Given the description of an element on the screen output the (x, y) to click on. 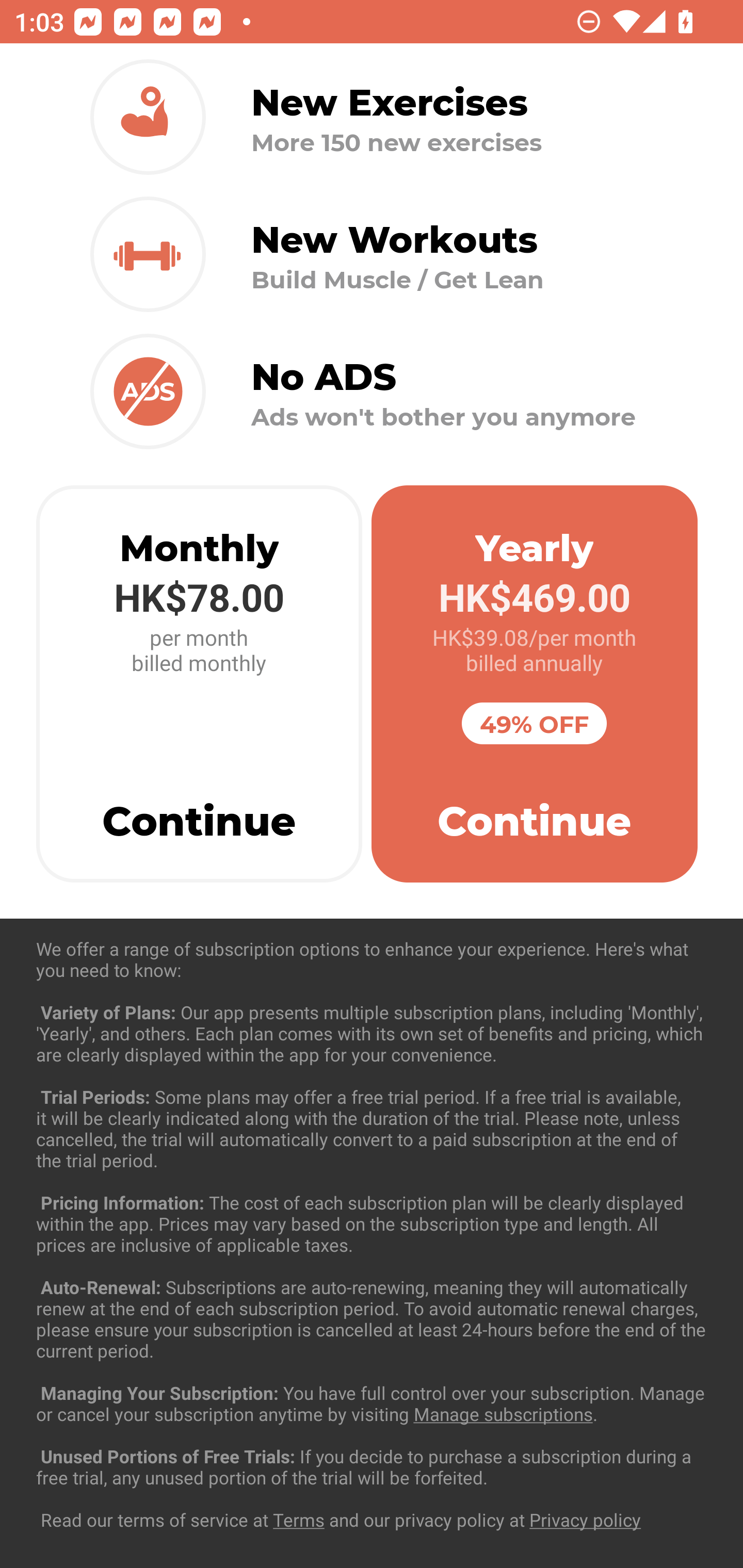
Monthly HK$78.00 per month
billed monthly Continue (199, 684)
Exercise Chest 37 exercises (371, 1033)
Exercise Forearms 4 exercises (371, 1232)
Exercise Legs 36 exercises (371, 1430)
